Given the description of an element on the screen output the (x, y) to click on. 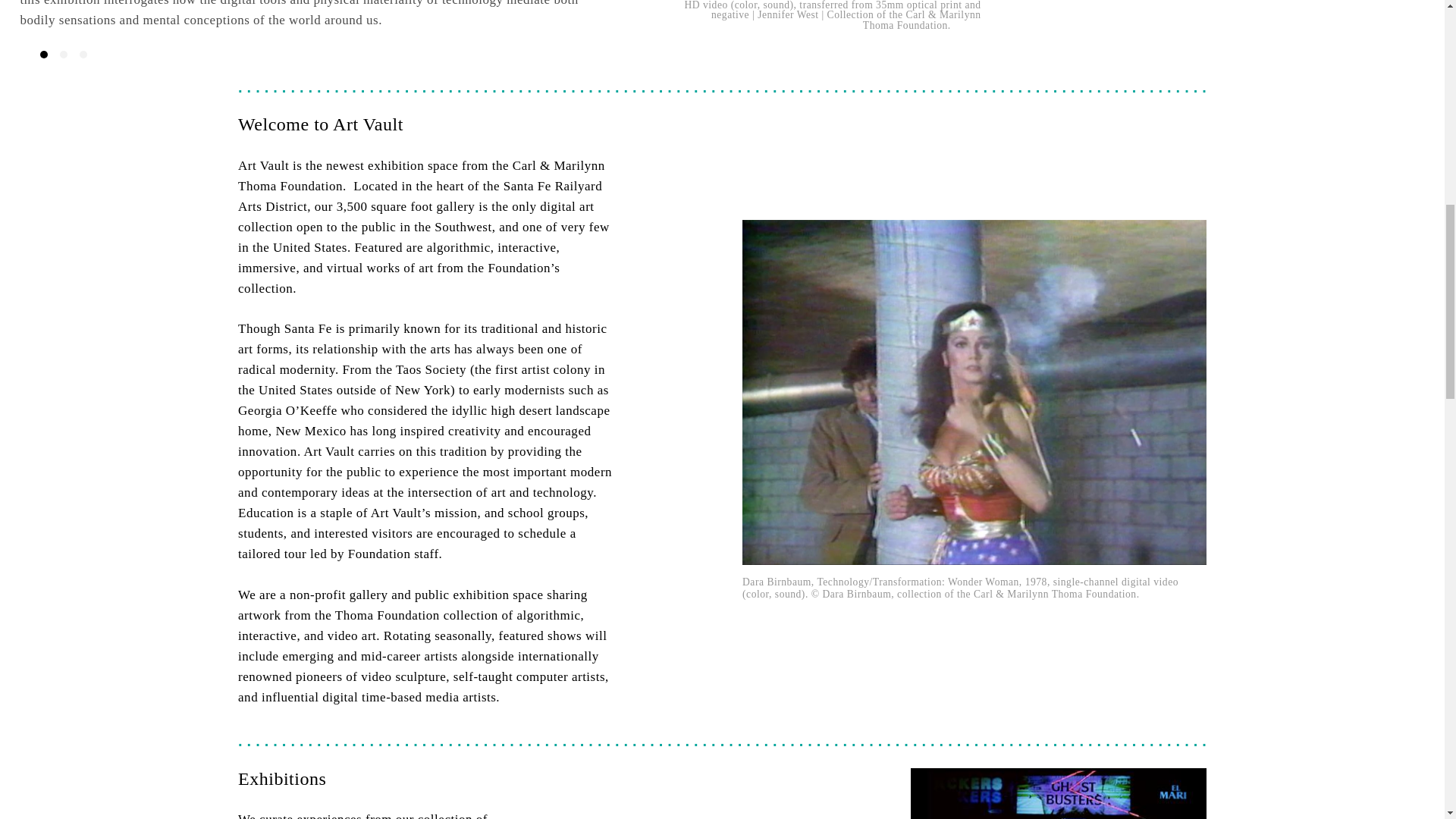
2 (62, 54)
1 (44, 54)
3 (83, 54)
